Given the description of an element on the screen output the (x, y) to click on. 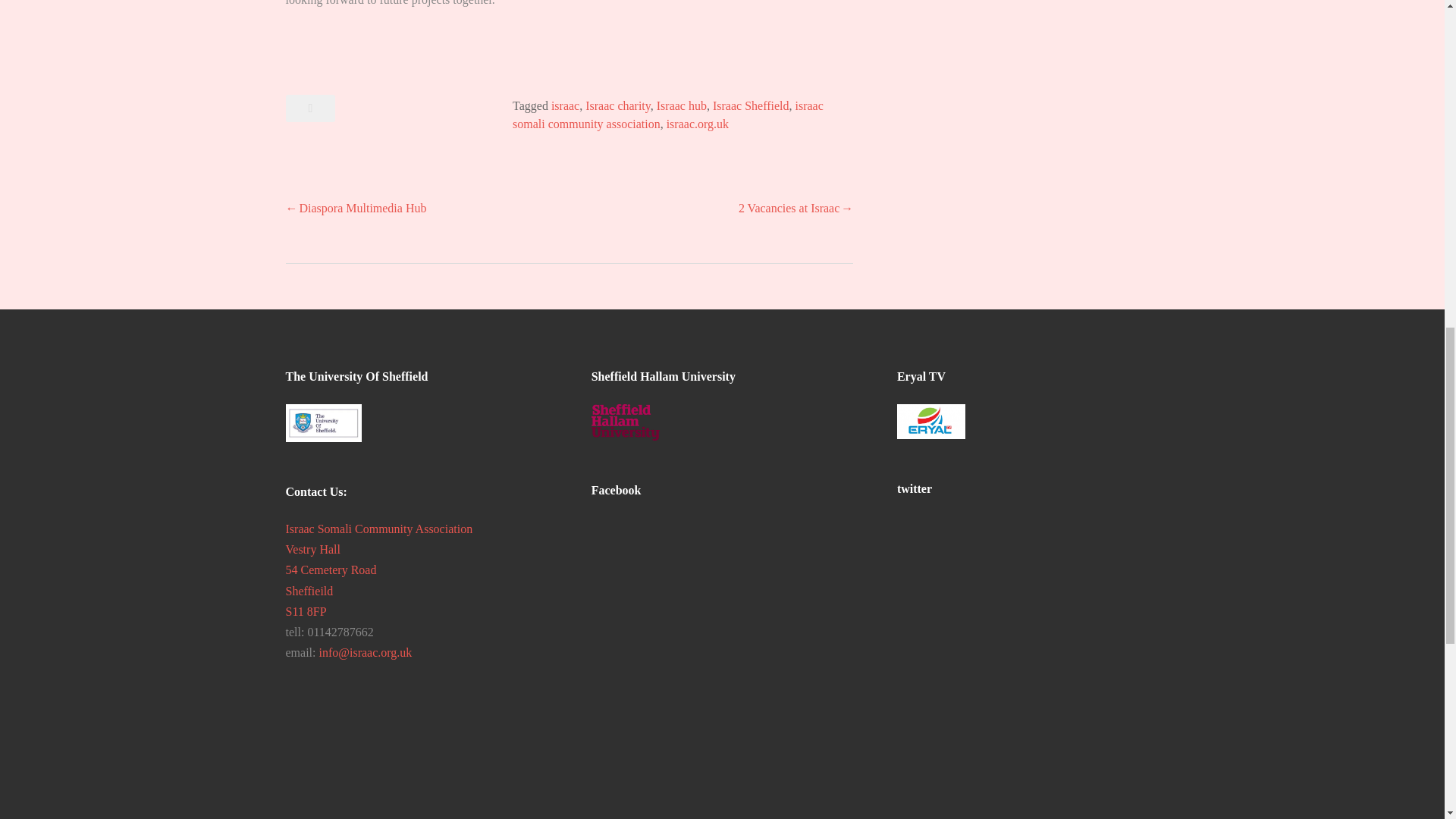
Diaspora Multimedia Hub (355, 207)
Israac hub (681, 105)
Sheffieild (309, 590)
2 Vacancies at Israac (795, 207)
The University Of Sheffield (323, 423)
54 Cemetery Road (330, 569)
Israac charity (617, 105)
Israac Sheffield (751, 105)
israac somali community association (668, 114)
Eryal TV (930, 421)
